Given the description of an element on the screen output the (x, y) to click on. 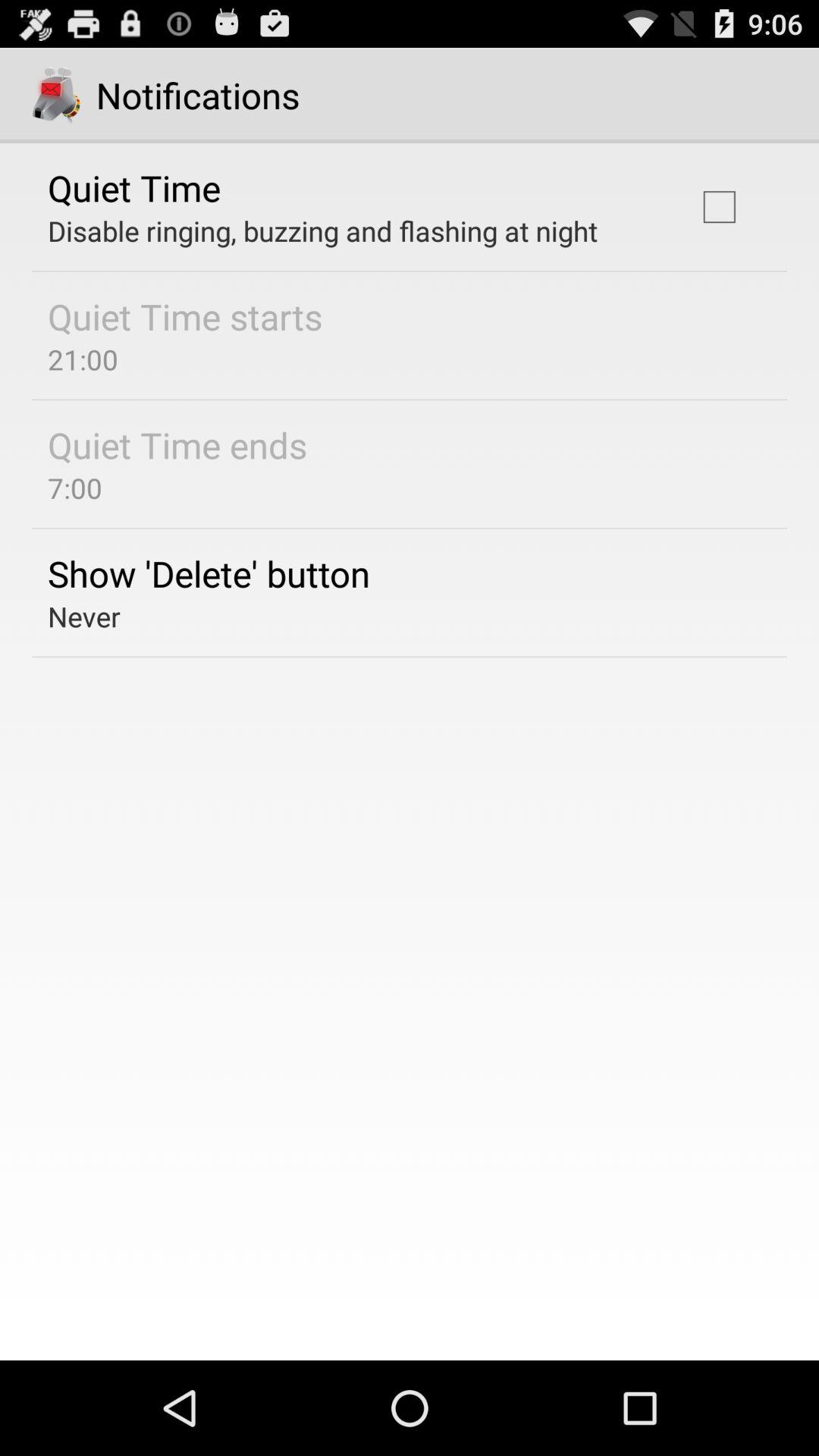
launch the never icon (83, 616)
